Given the description of an element on the screen output the (x, y) to click on. 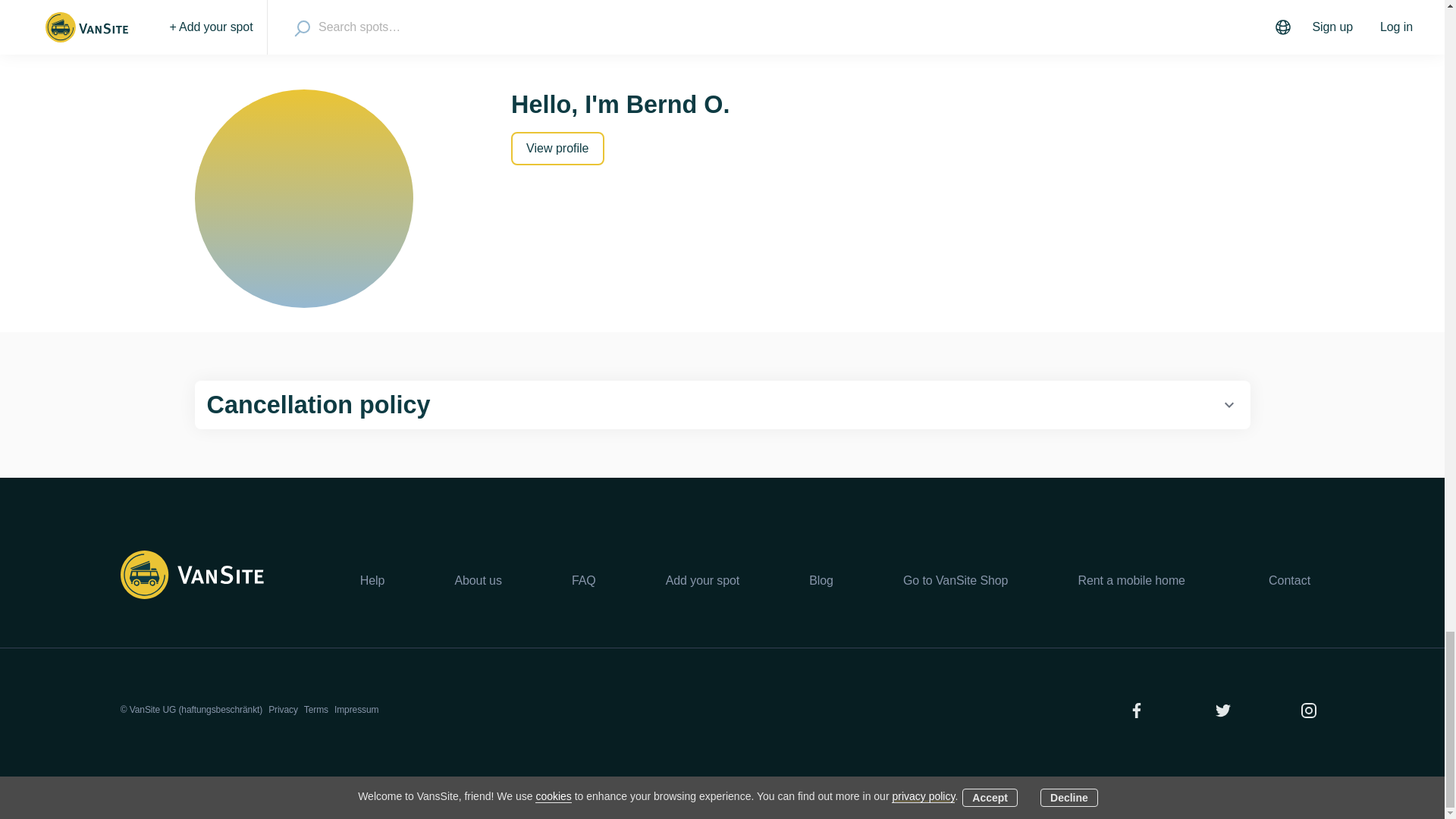
Blog (820, 580)
Terms (316, 709)
Contact (1289, 580)
FAQ (583, 580)
Bernd O (302, 198)
About us (477, 580)
View profile (557, 148)
Impressum (356, 709)
Go to VanSite Shop (954, 580)
Rent a mobile home (1131, 580)
View profile (557, 147)
Add your spot (702, 580)
Privacy (282, 709)
Help (372, 580)
